Given the description of an element on the screen output the (x, y) to click on. 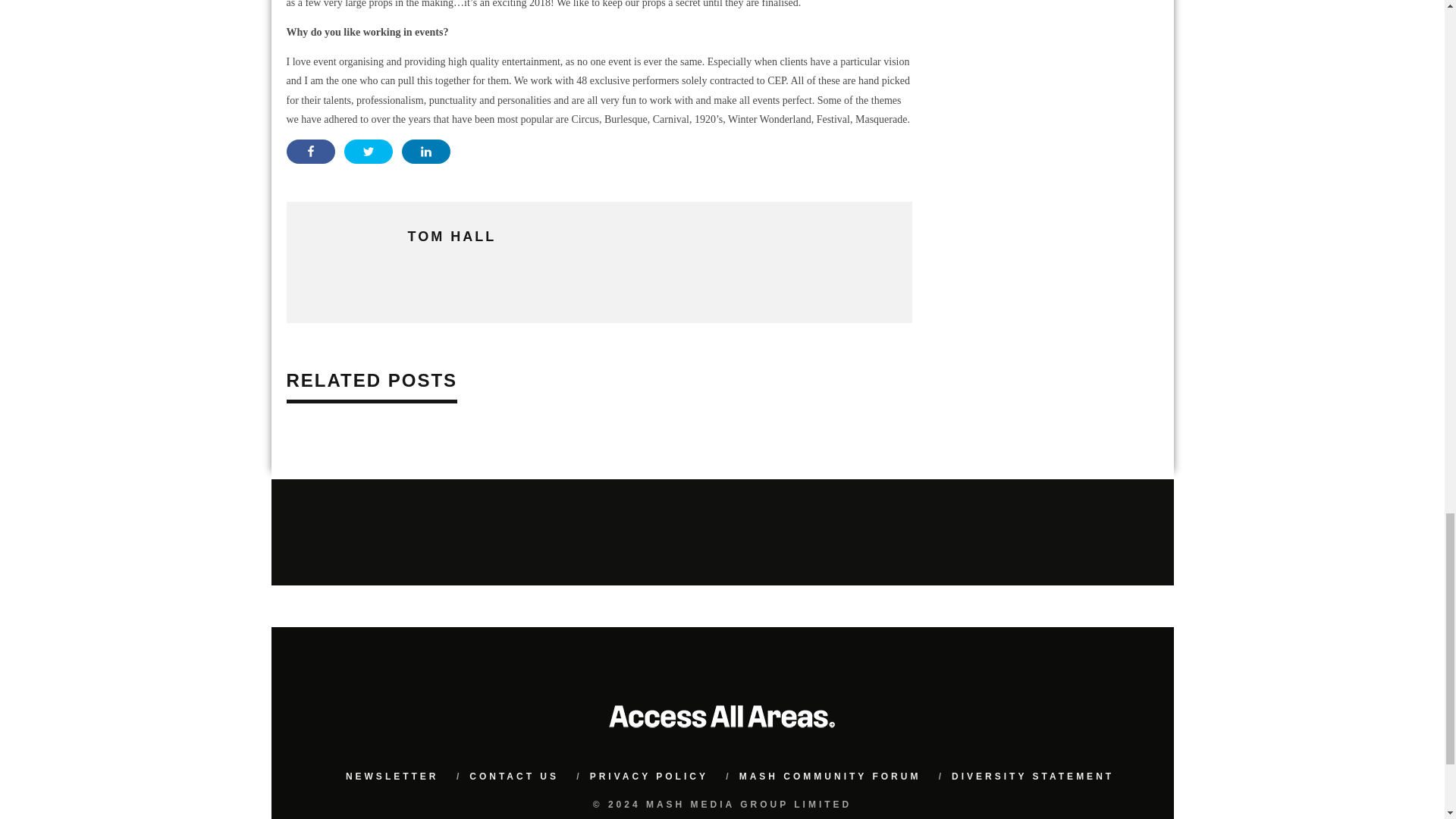
Share on Twitter (368, 151)
Share on Facebook (310, 151)
Share on LinkedIn (425, 151)
